Given the description of an element on the screen output the (x, y) to click on. 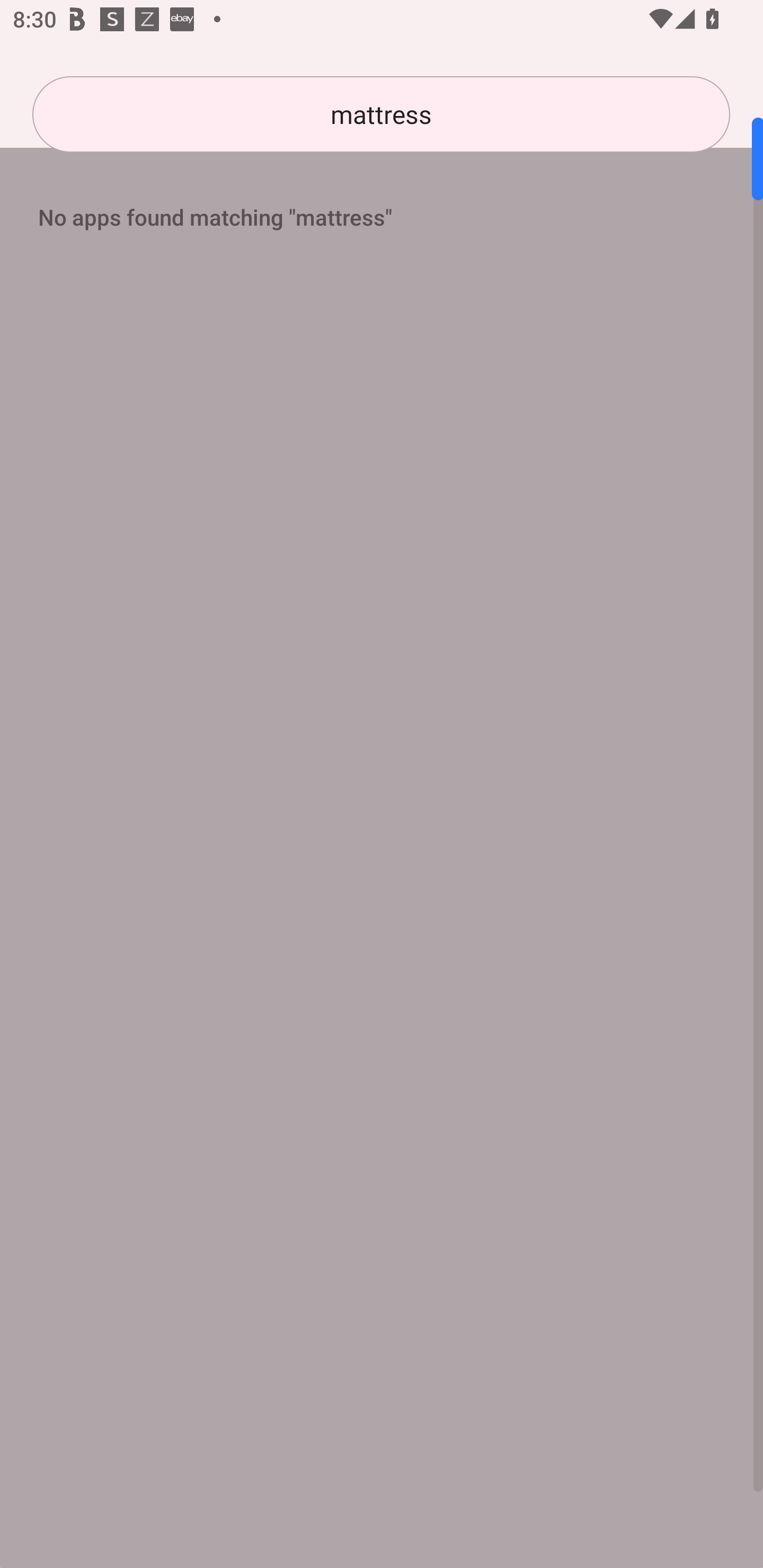
mattress (381, 114)
